Given the description of an element on the screen output the (x, y) to click on. 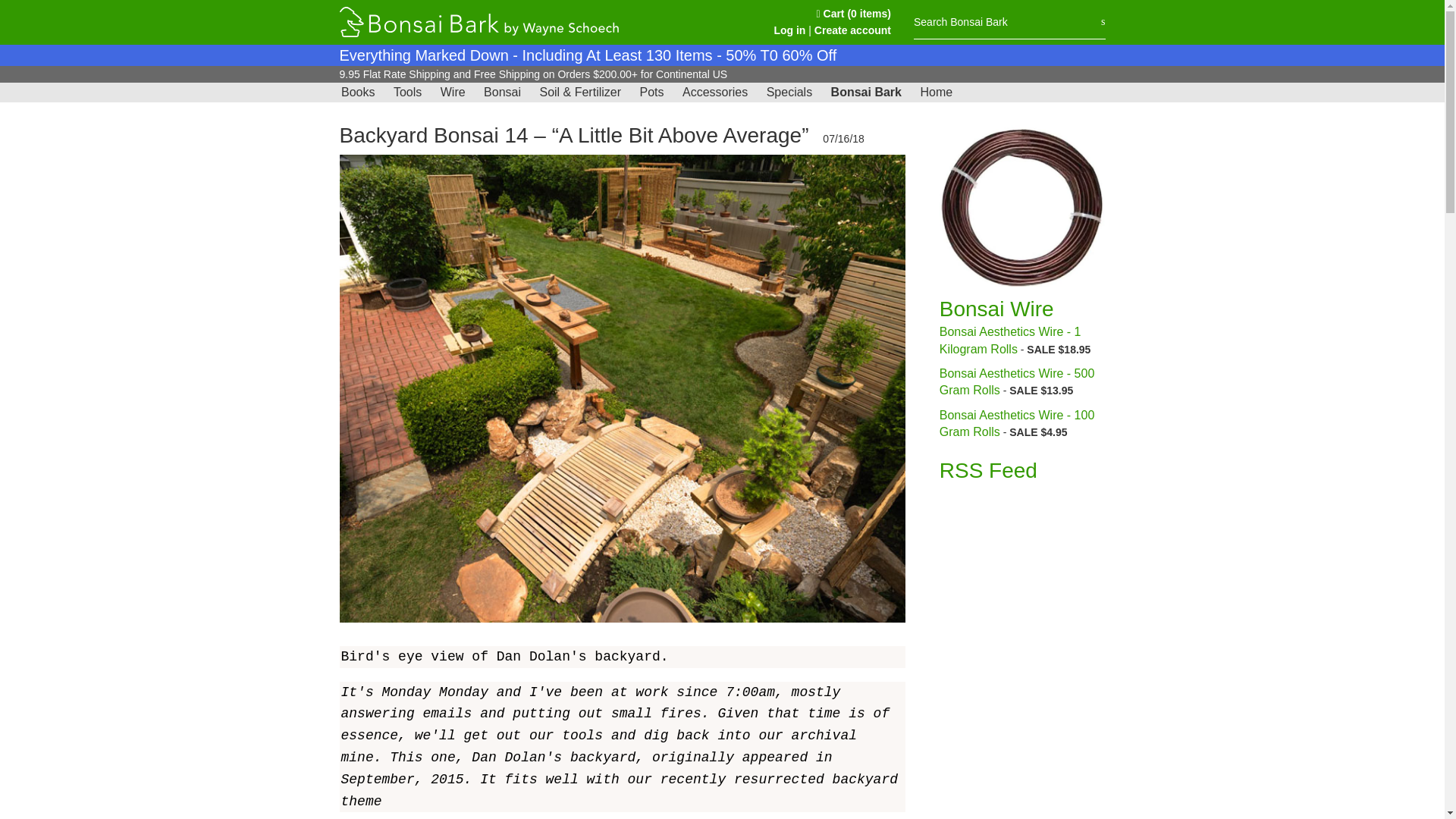
Home (935, 92)
Books (357, 92)
Pots (651, 92)
Bonsai Bark (866, 92)
Specials (788, 92)
Accessories (715, 92)
Bonsai (502, 92)
Tools (407, 92)
Log in (789, 30)
Wire (452, 92)
Create account (852, 30)
